Given the description of an element on the screen output the (x, y) to click on. 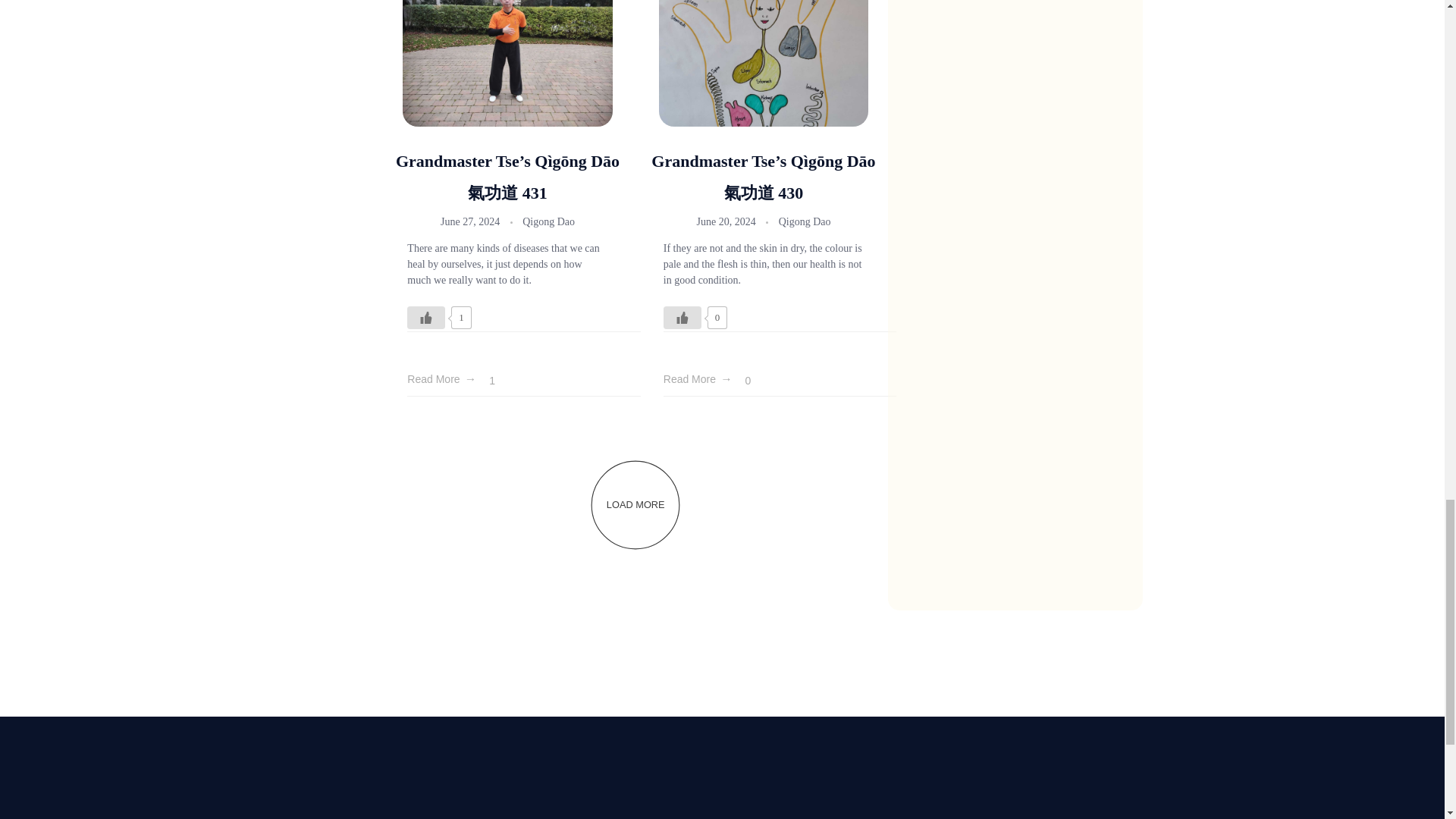
View all posts in Qigong Dao (804, 221)
View all posts in Qigong Dao (548, 221)
